Given the description of an element on the screen output the (x, y) to click on. 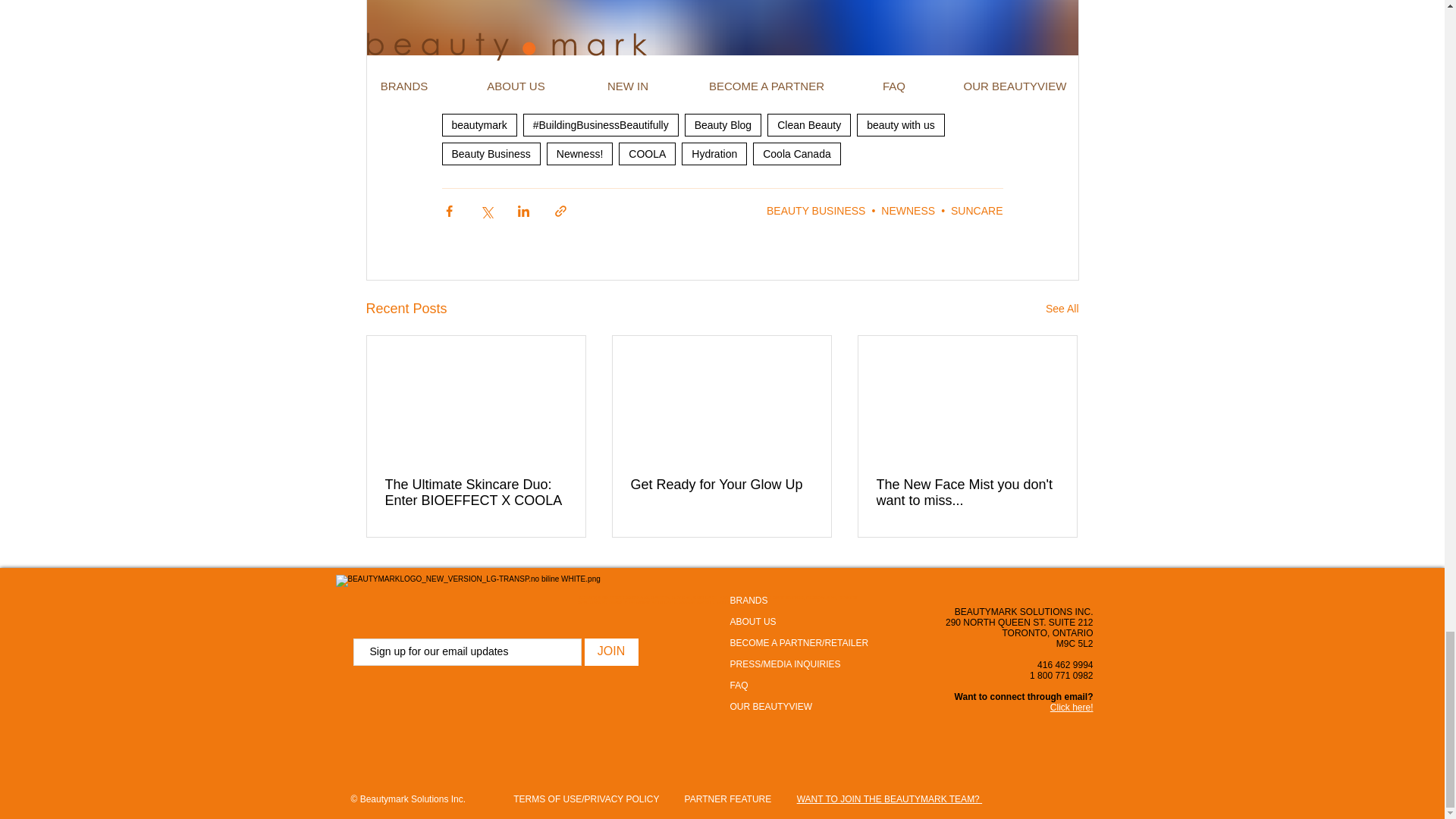
beauty with us (900, 124)
Beauty Business (490, 153)
Hydration (713, 153)
BEAUTY BUSINESS (815, 210)
NEWNESS (907, 210)
COOLA (646, 153)
The Ultimate Skincare Duo: Enter BIOEFFECT X COOLA (476, 492)
SUNCARE (976, 210)
Beauty Blog (722, 124)
See All (1061, 309)
